Given the description of an element on the screen output the (x, y) to click on. 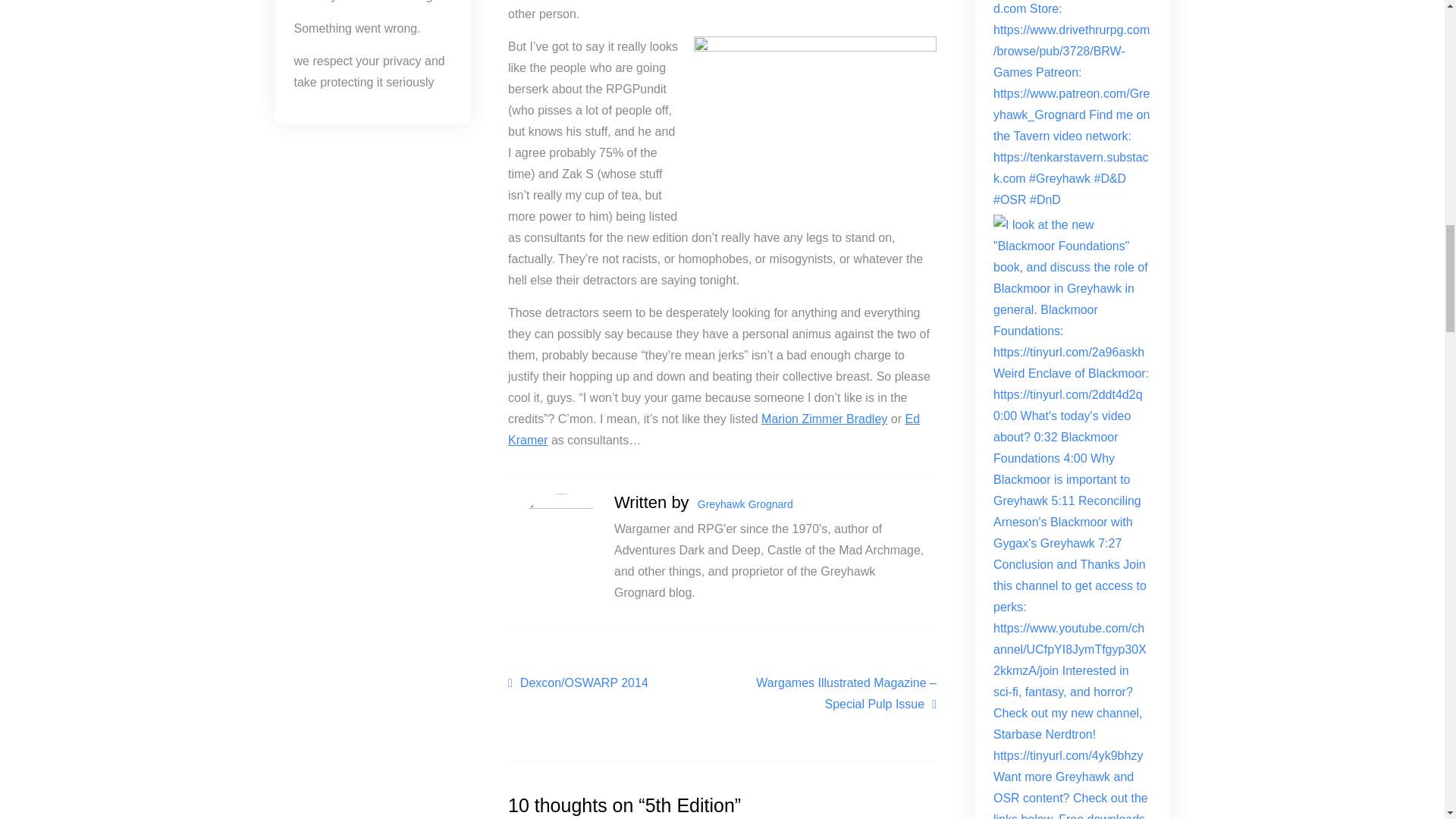
Greyhawk Grognard (745, 503)
Ed Kramer (714, 429)
Posts by Greyhawk Grognard (745, 503)
Marion Zimmer Bradley (823, 418)
